Given the description of an element on the screen output the (x, y) to click on. 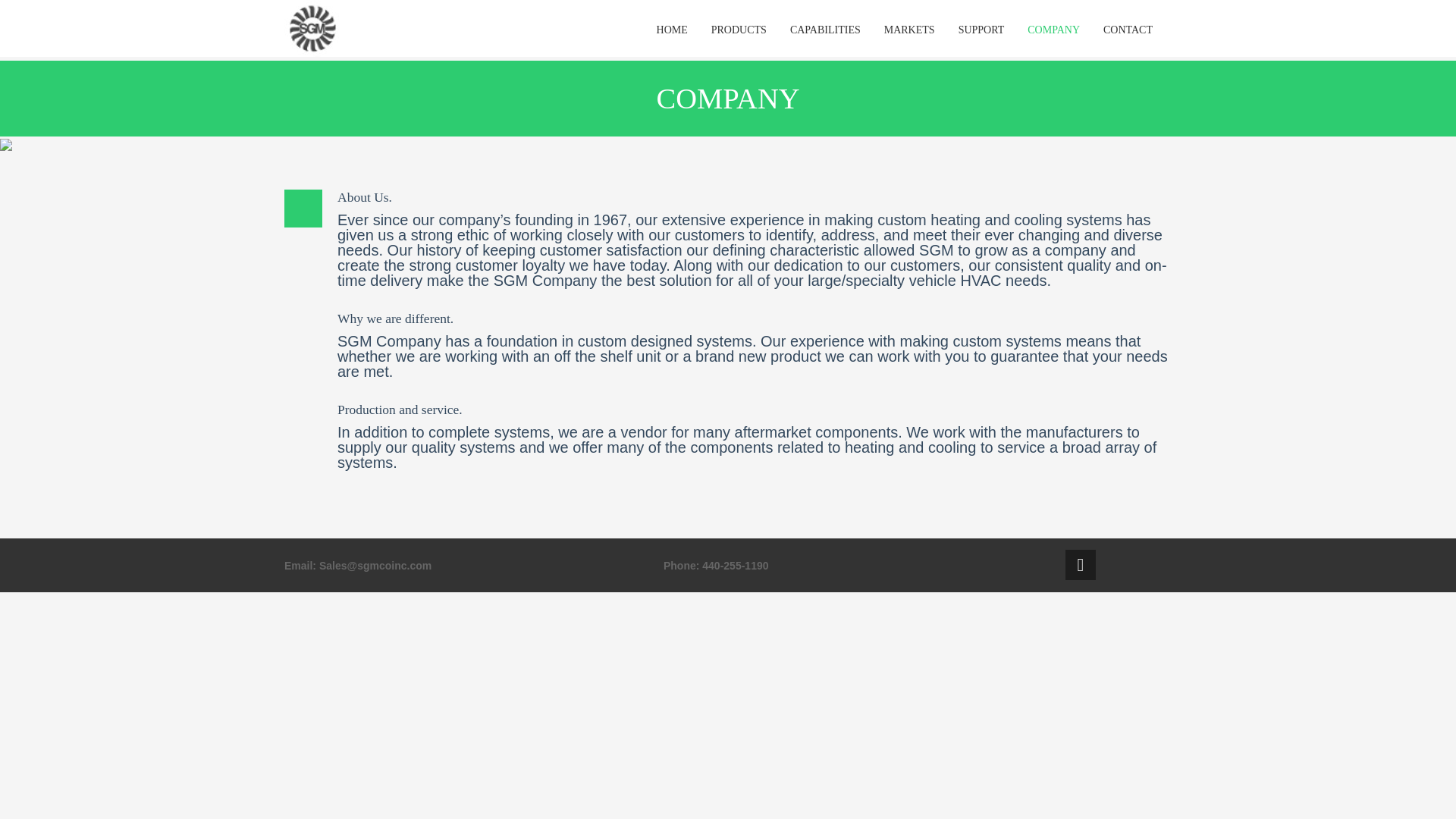
HOME (671, 30)
CAPABILITIES (825, 30)
COMPANY (1053, 30)
CONTACT (1127, 30)
PRODUCTS (738, 30)
SUPPORT (981, 30)
MARKETS (909, 30)
